Given the description of an element on the screen output the (x, y) to click on. 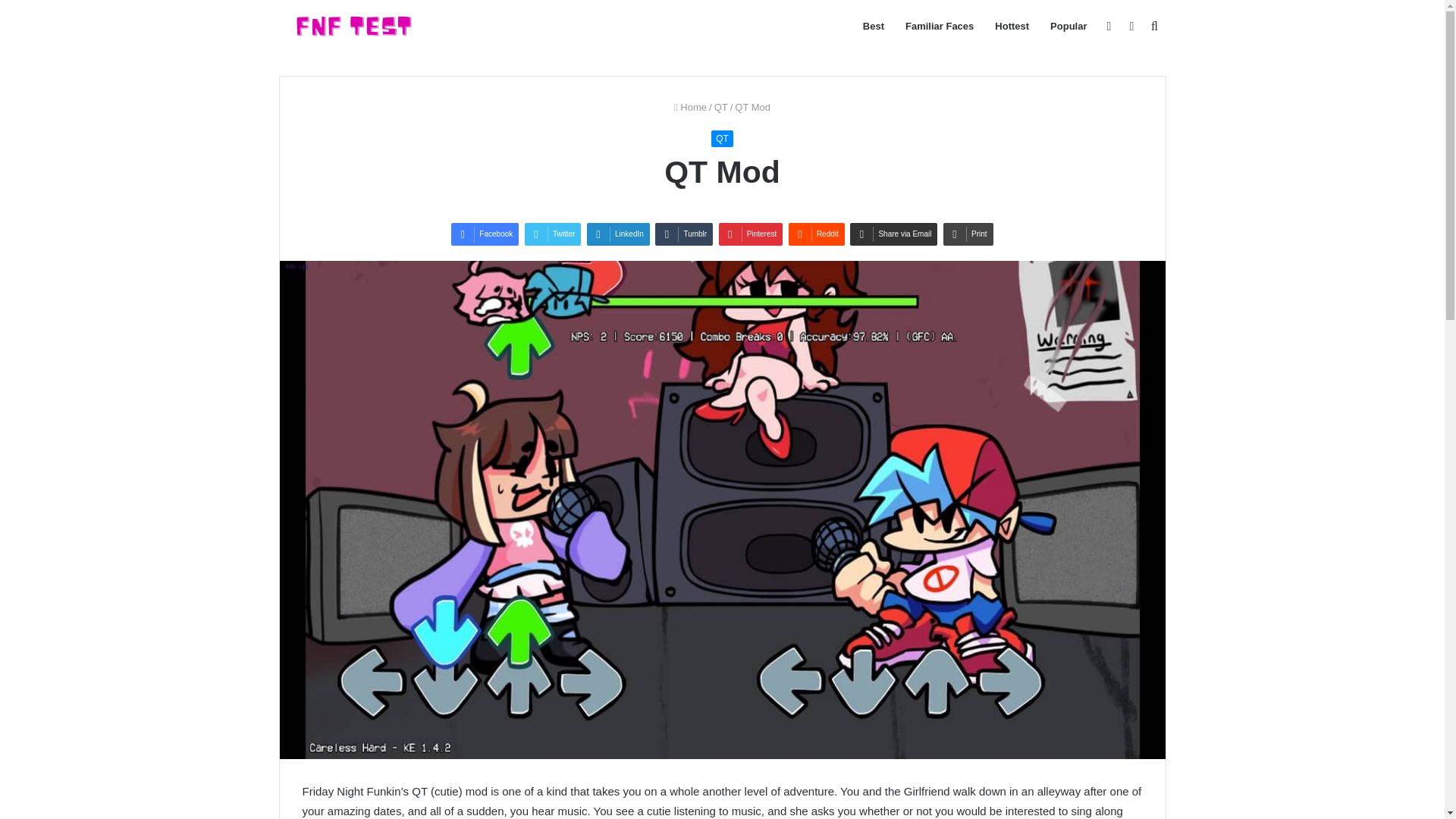
Twitter (552, 233)
Tumblr (684, 233)
Print (967, 233)
Pinterest (751, 233)
FNF Test (352, 26)
QT (721, 107)
LinkedIn (617, 233)
Twitter (552, 233)
Print (967, 233)
QT (722, 138)
